Given the description of an element on the screen output the (x, y) to click on. 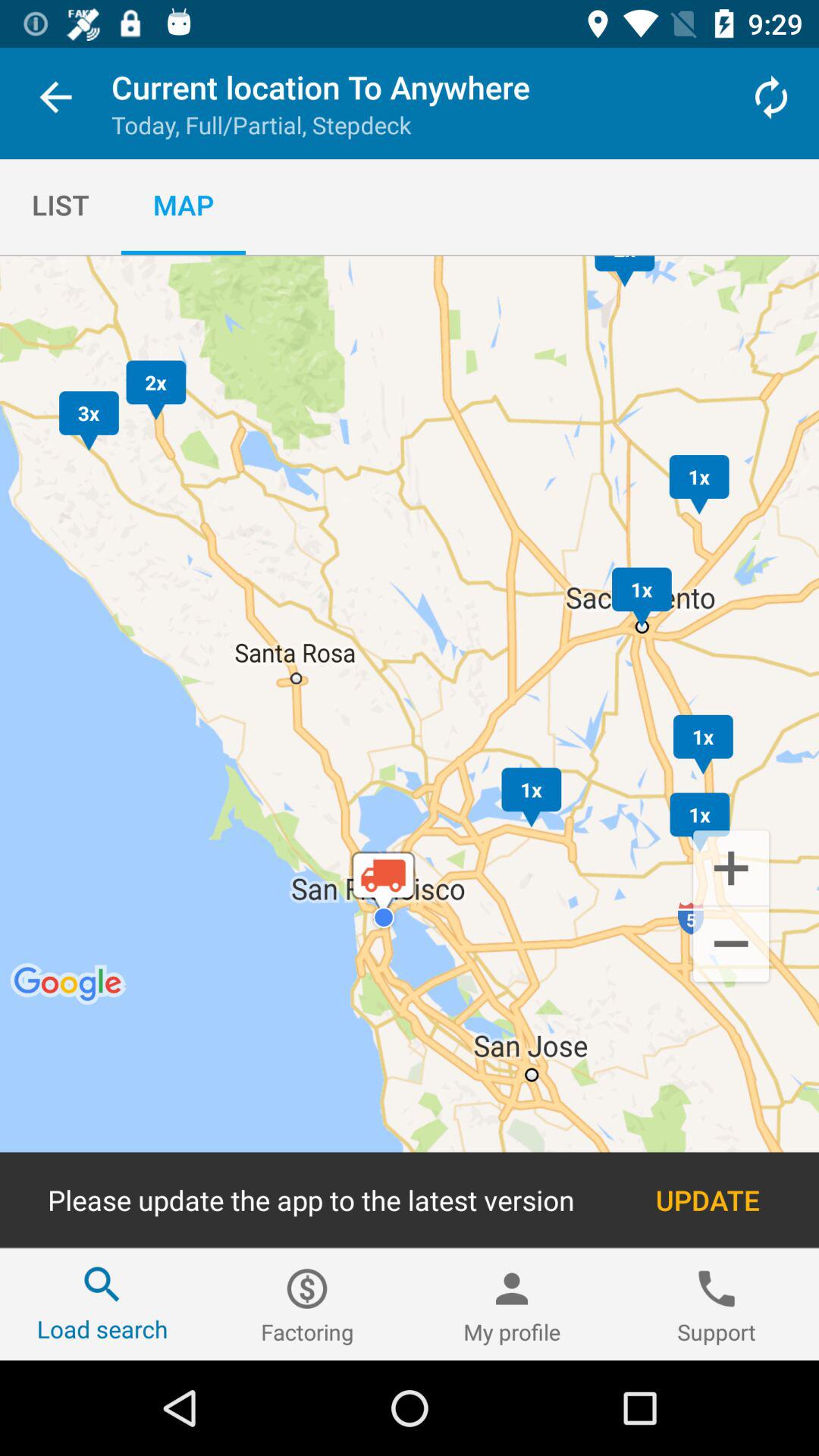
open the item next to the current location to icon (55, 99)
